Given the description of an element on the screen output the (x, y) to click on. 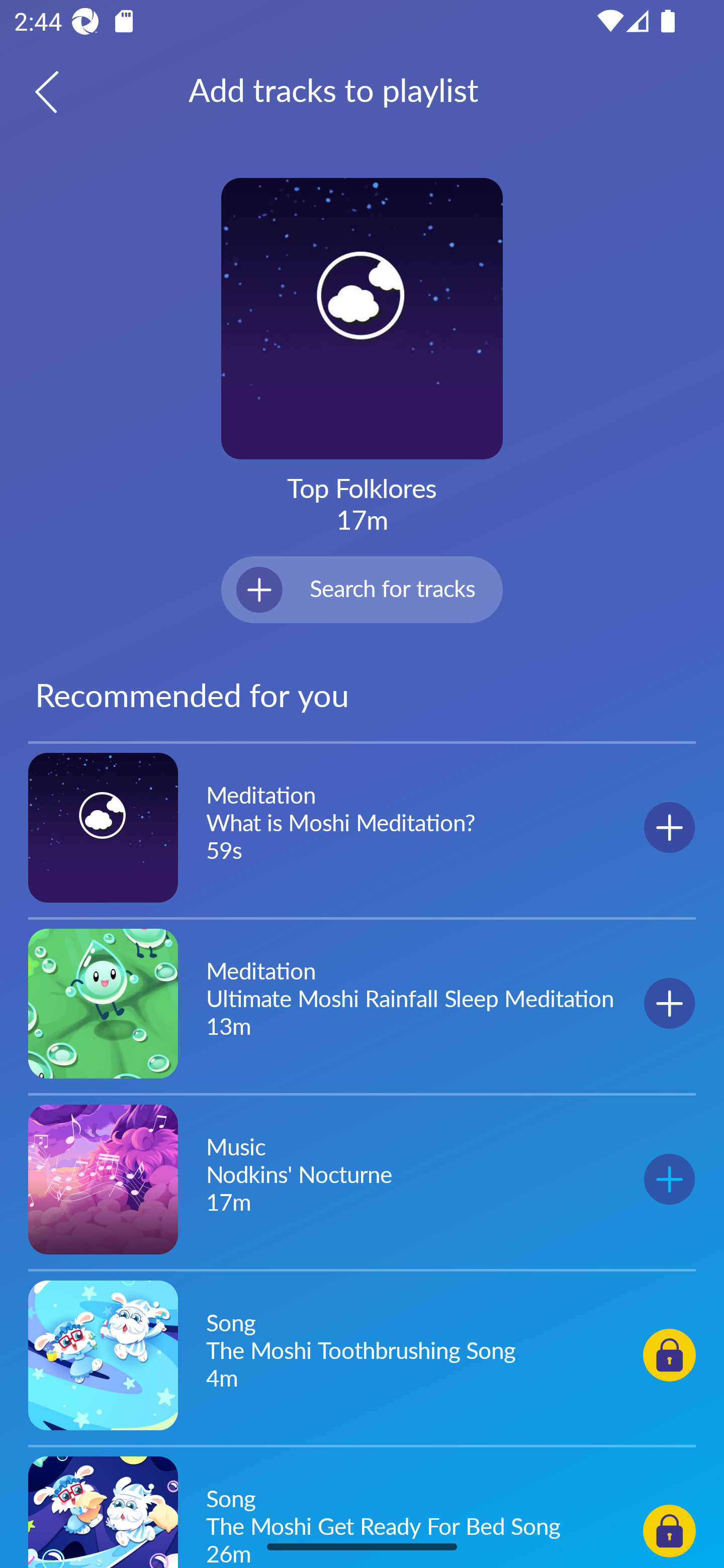
icon Search for tracks (361, 589)
Meditation What is Moshi Meditation? 59s (361, 827)
Music Nodkins' Nocturne 17m (361, 1179)
Song The Moshi Toothbrushing Song 4m (361, 1354)
Song The Moshi Get Ready For Bed Song 26m (361, 1509)
